Given the description of an element on the screen output the (x, y) to click on. 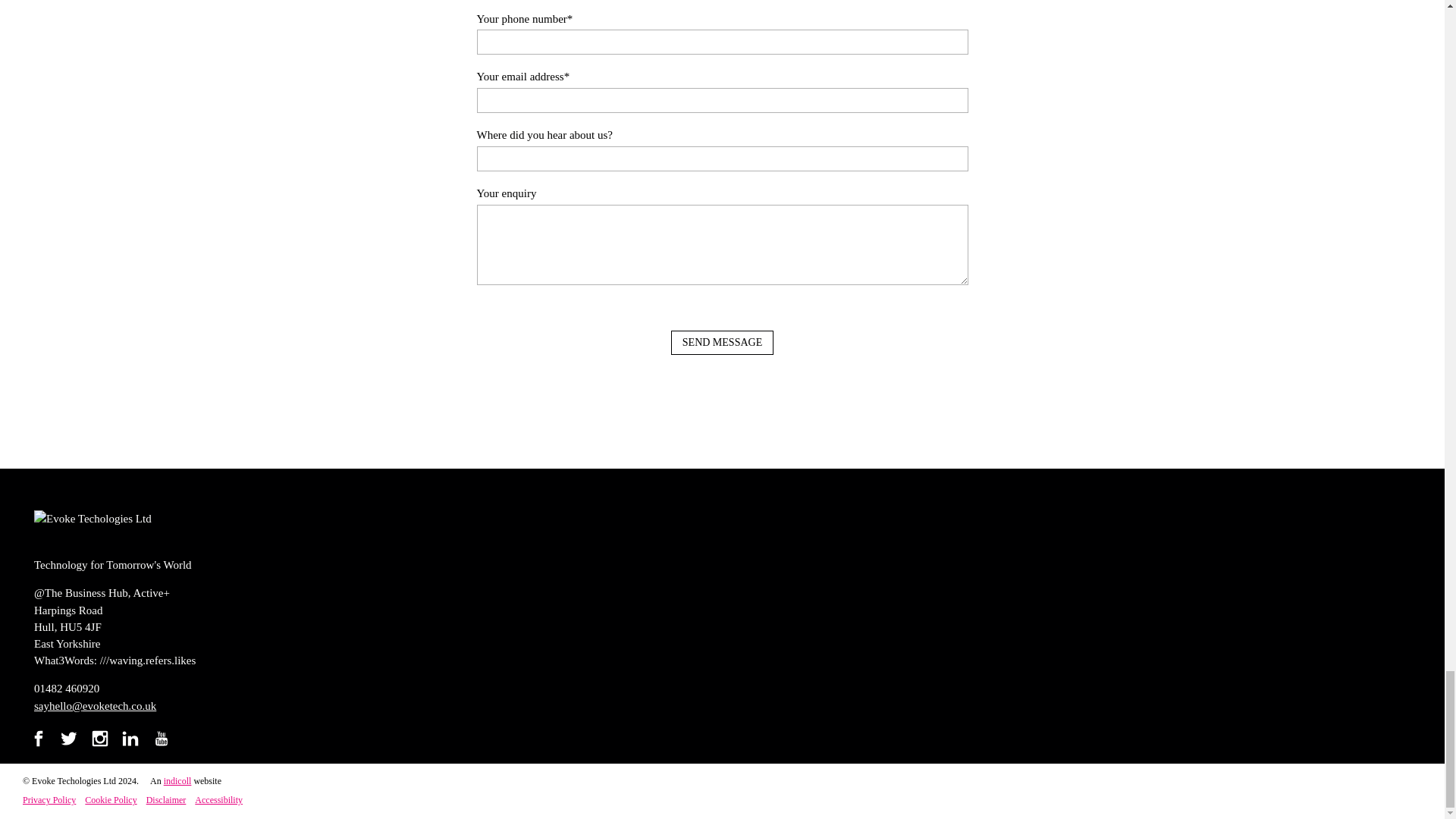
Send message (722, 342)
Email Evoke Techologies Ltd (94, 705)
indicoll Ltd. (177, 780)
